Given the description of an element on the screen output the (x, y) to click on. 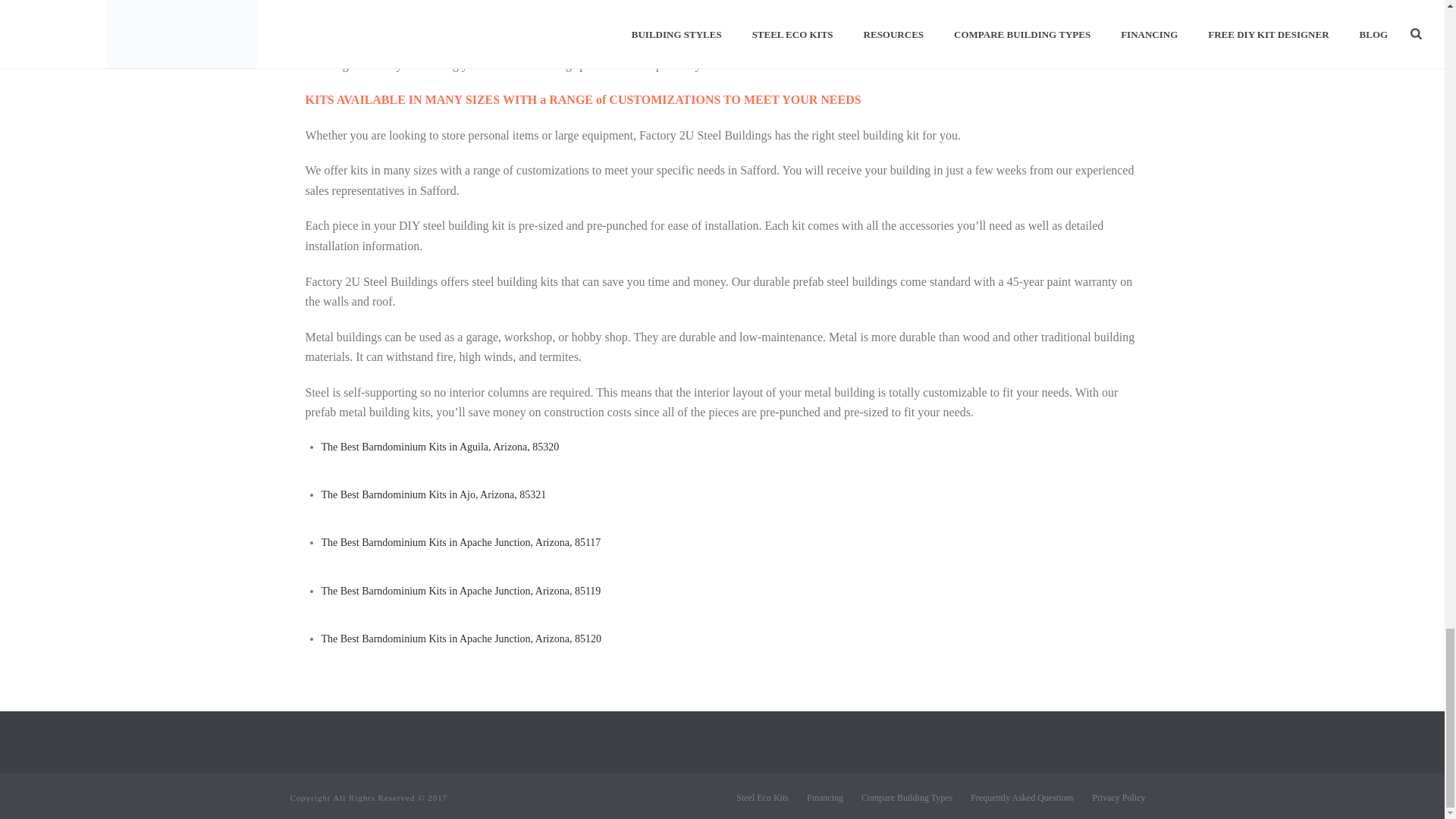
The Best Barndominium Kits in Ajo, Arizona, 85321 (434, 494)
The Best Barndominium Kits in Ajo, Arizona, 85321 (434, 494)
The Best Barndominium Kits in Aguila, Arizona, 85320 (440, 446)
Steel Eco Kits (762, 797)
Financing (824, 797)
The Best Barndominium Kits in Aguila, Arizona, 85320 (440, 446)
